Given the description of an element on the screen output the (x, y) to click on. 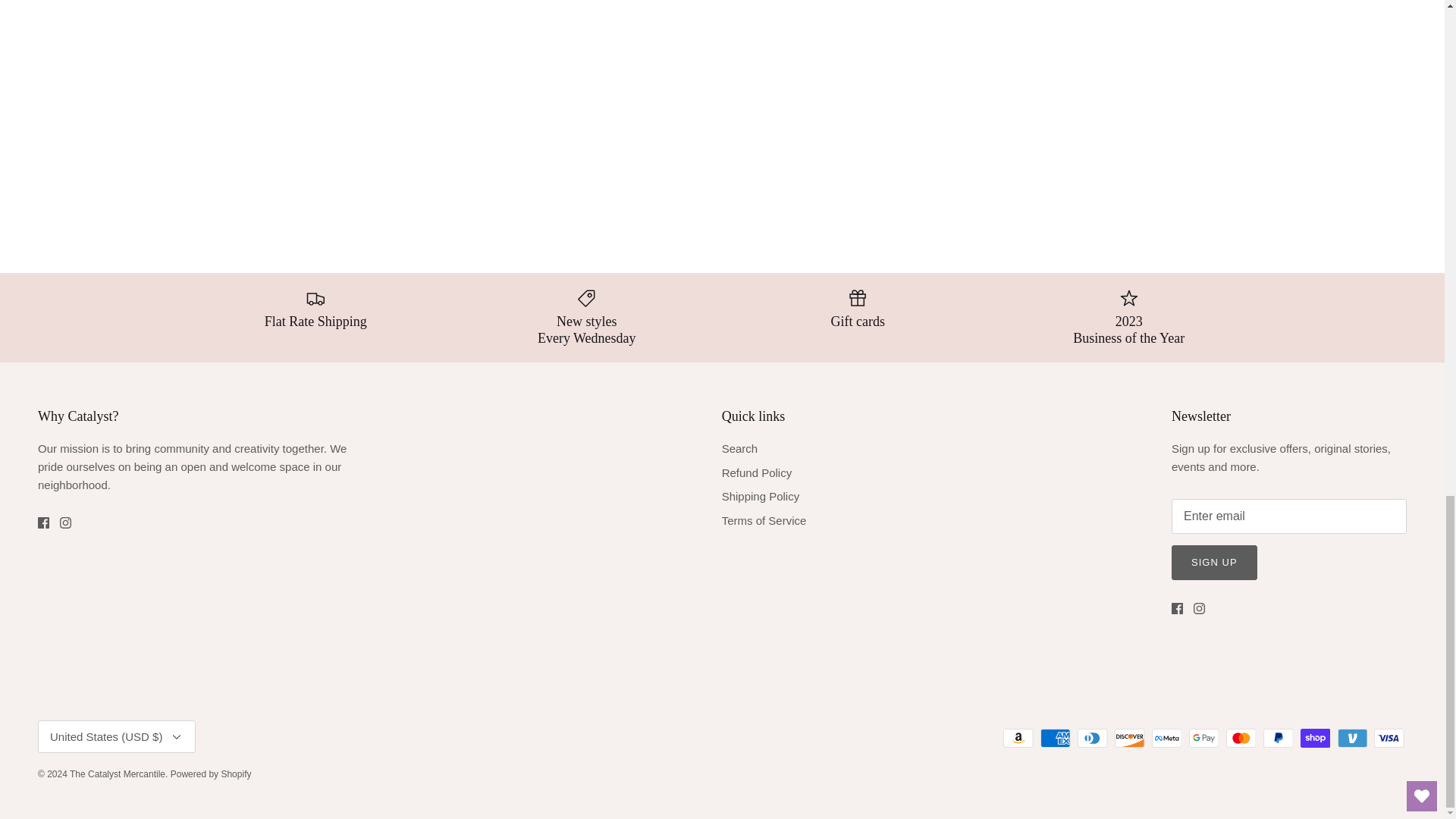
American Express (1055, 737)
Discover (1129, 737)
Diners Club (1092, 737)
Facebook (1177, 608)
Instagram (1199, 608)
Amazon (1018, 737)
Facebook (43, 522)
Instagram (65, 522)
